Given the description of an element on the screen output the (x, y) to click on. 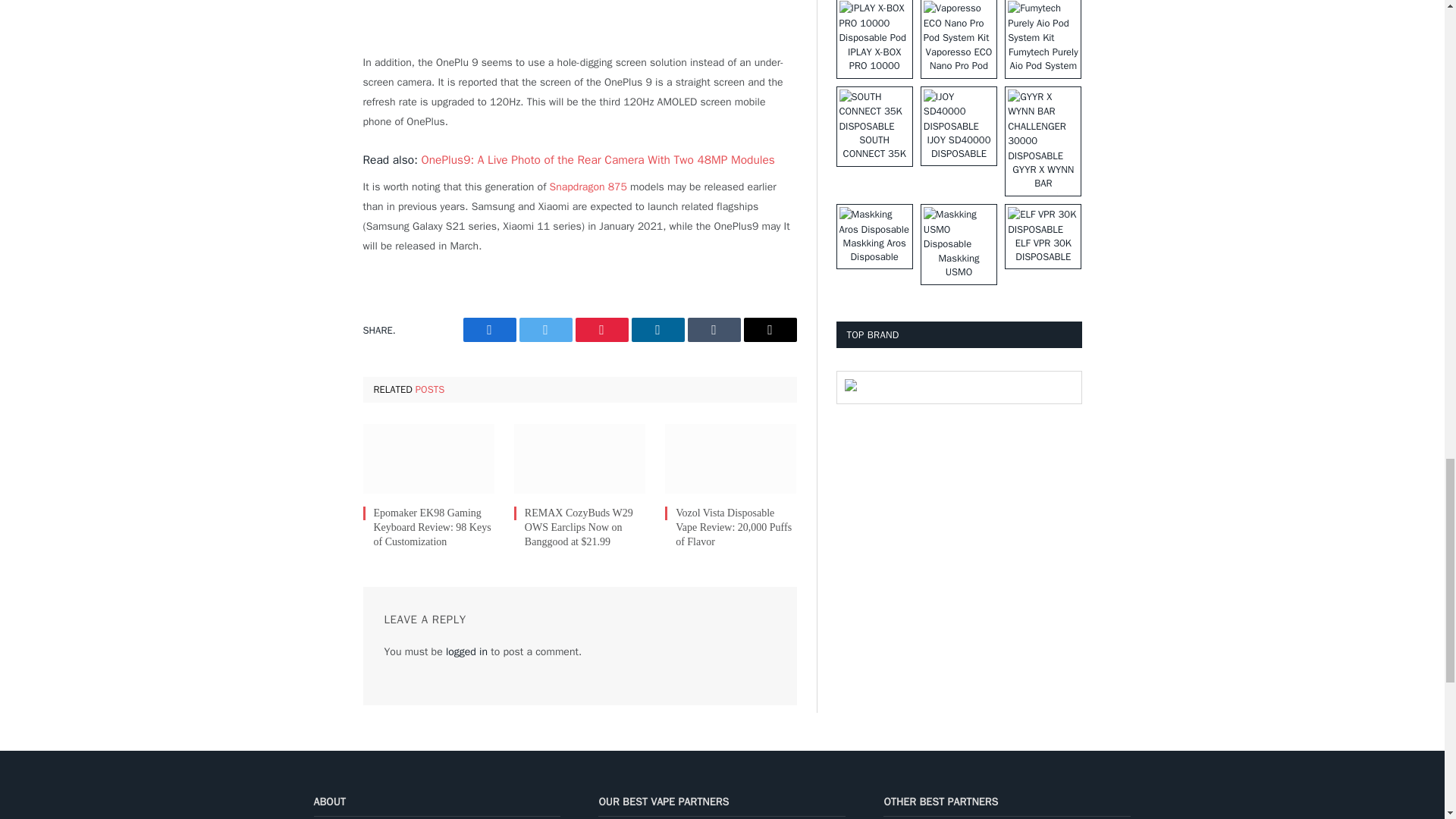
Share on Facebook (489, 329)
Share on Twitter (545, 329)
